Given the description of an element on the screen output the (x, y) to click on. 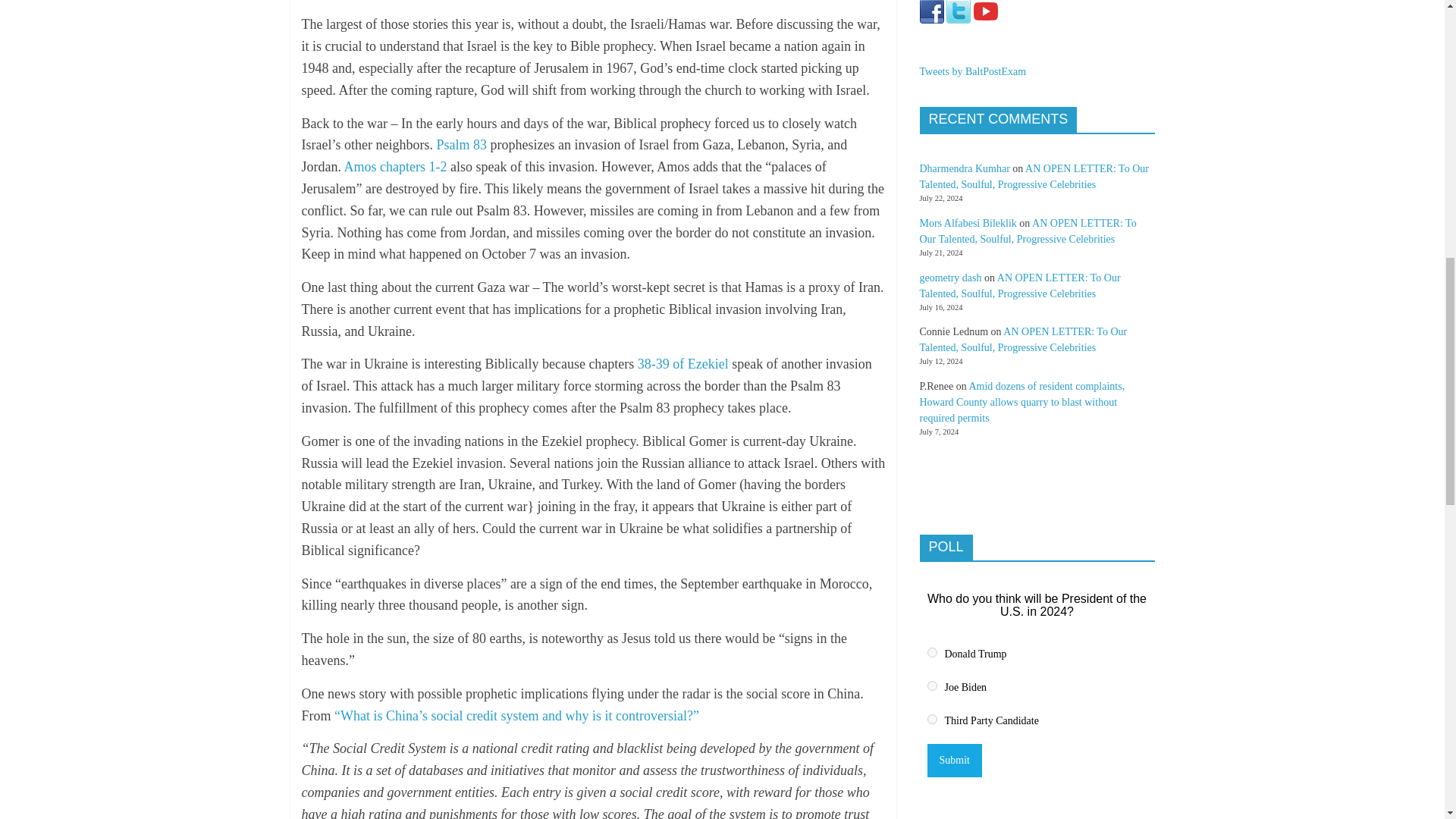
Amos chapters 1-2 (394, 166)
38-39 of Ezekiel (683, 363)
3 (931, 718)
1 (931, 652)
Tweets by BaltPostExam (972, 71)
Psalm 83 (460, 144)
2 (931, 685)
